Given the description of an element on the screen output the (x, y) to click on. 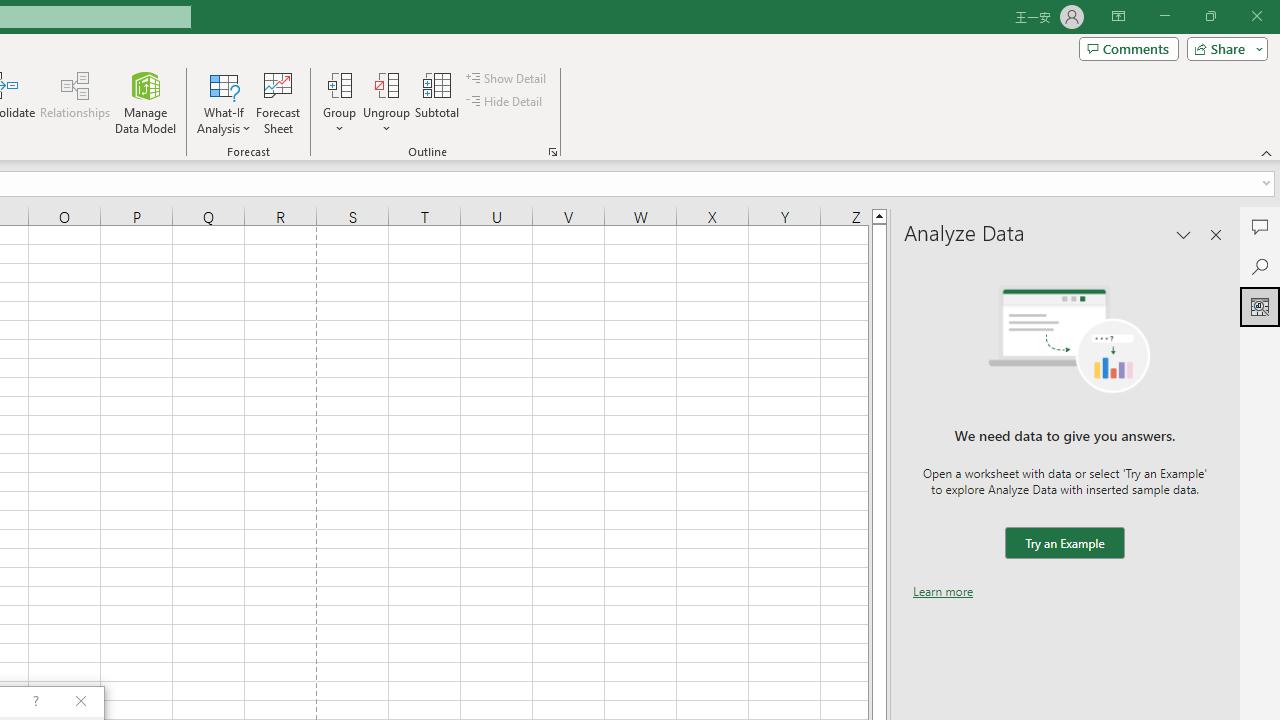
Learn more (943, 591)
Hide Detail (505, 101)
Subtotal (437, 102)
What-If Analysis (223, 102)
Relationships (75, 102)
Show Detail (507, 78)
